Given the description of an element on the screen output the (x, y) to click on. 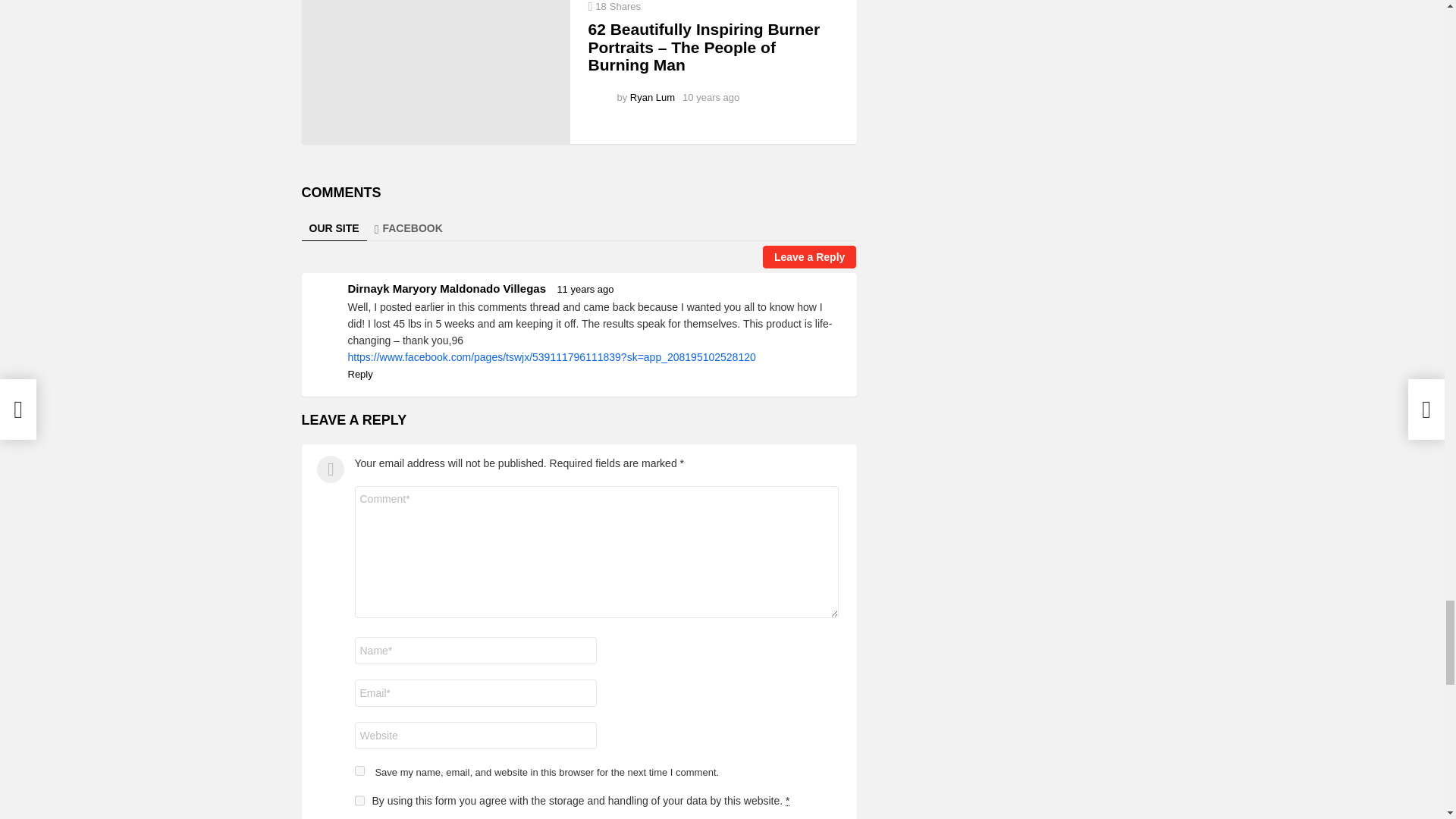
yes (360, 770)
